Given the description of an element on the screen output the (x, y) to click on. 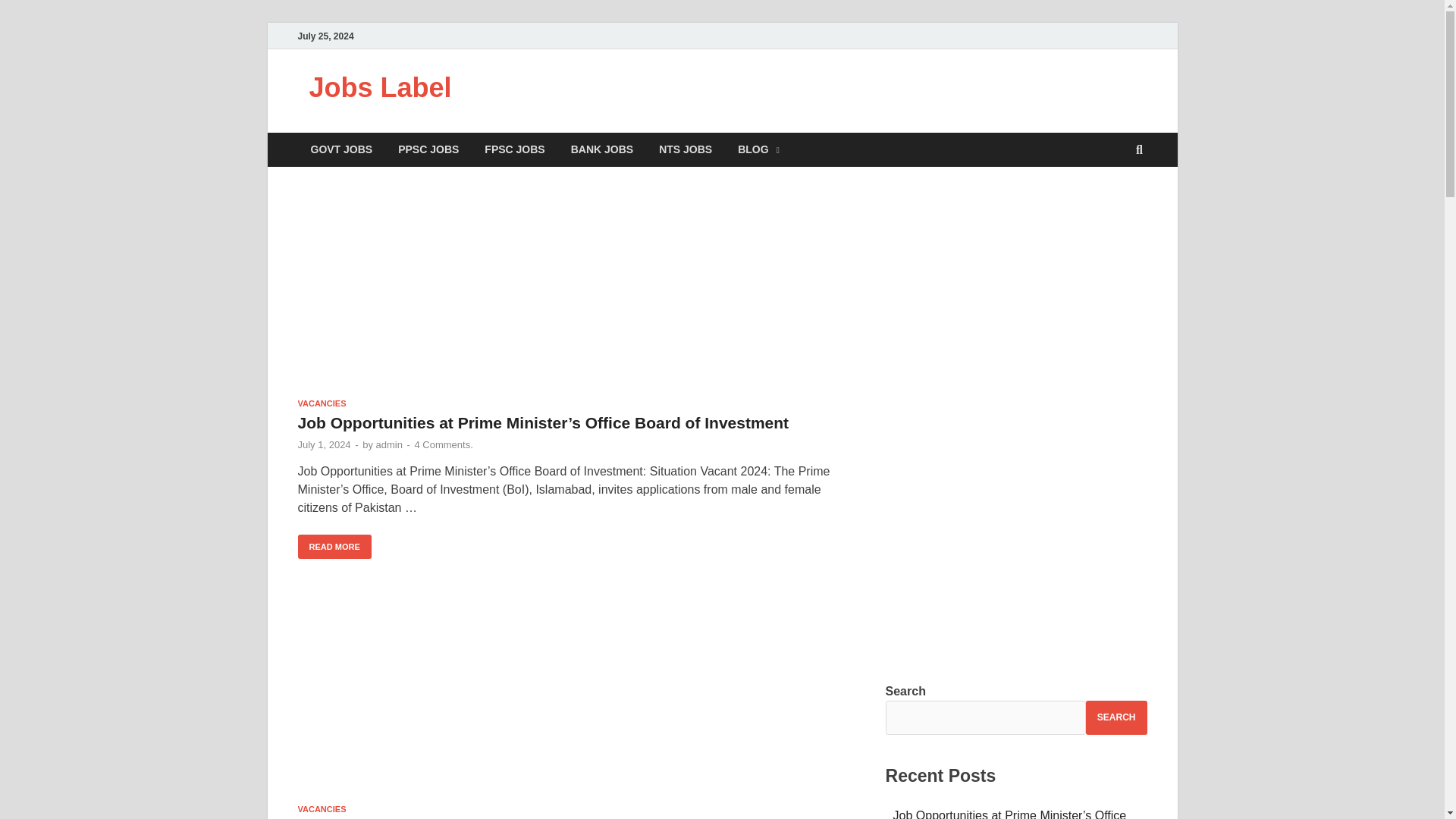
NTS JOBS (685, 149)
READ MORE (334, 546)
4 Comments. (442, 444)
July 1, 2024 (323, 444)
BLOG (758, 149)
admin (389, 444)
GOVT JOBS (341, 149)
FPSC JOBS (514, 149)
VACANCIES (321, 402)
PPSC JOBS (428, 149)
Jobs Label (379, 87)
BANK JOBS (601, 149)
VACANCIES (321, 809)
